Given the description of an element on the screen output the (x, y) to click on. 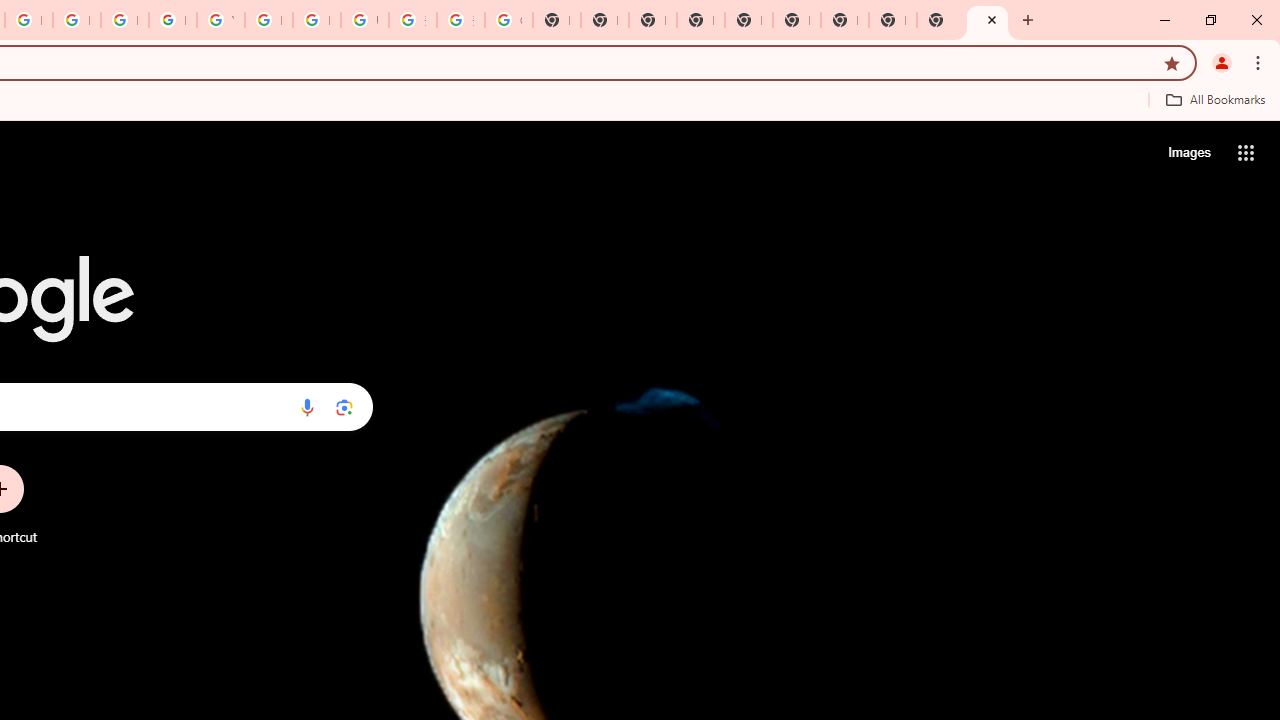
New Tab (987, 20)
YouTube (220, 20)
New Tab (700, 20)
